Given the description of an element on the screen output the (x, y) to click on. 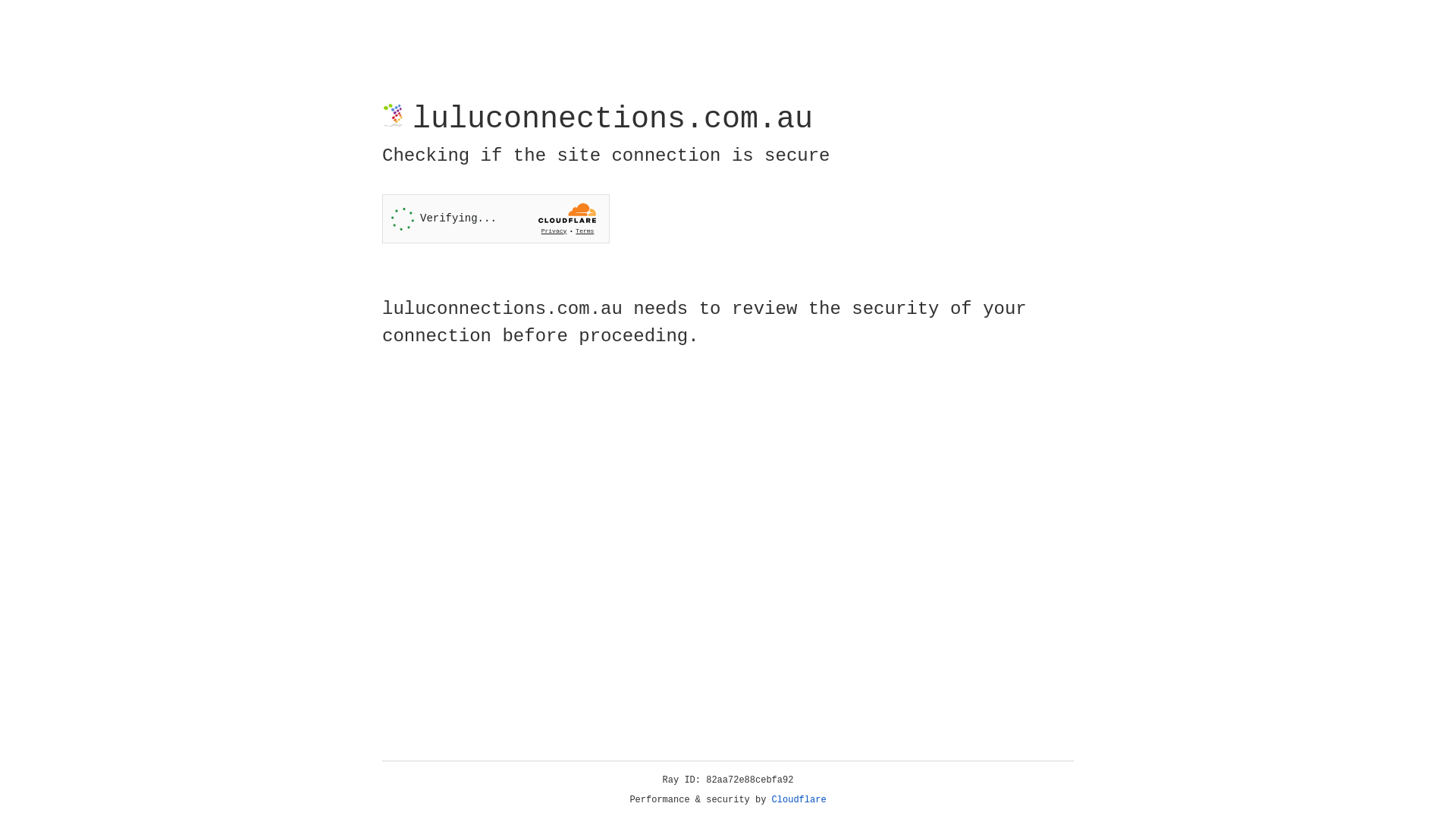
Cloudflare Element type: text (798, 799)
Widget containing a Cloudflare security challenge Element type: hover (495, 218)
